Given the description of an element on the screen output the (x, y) to click on. 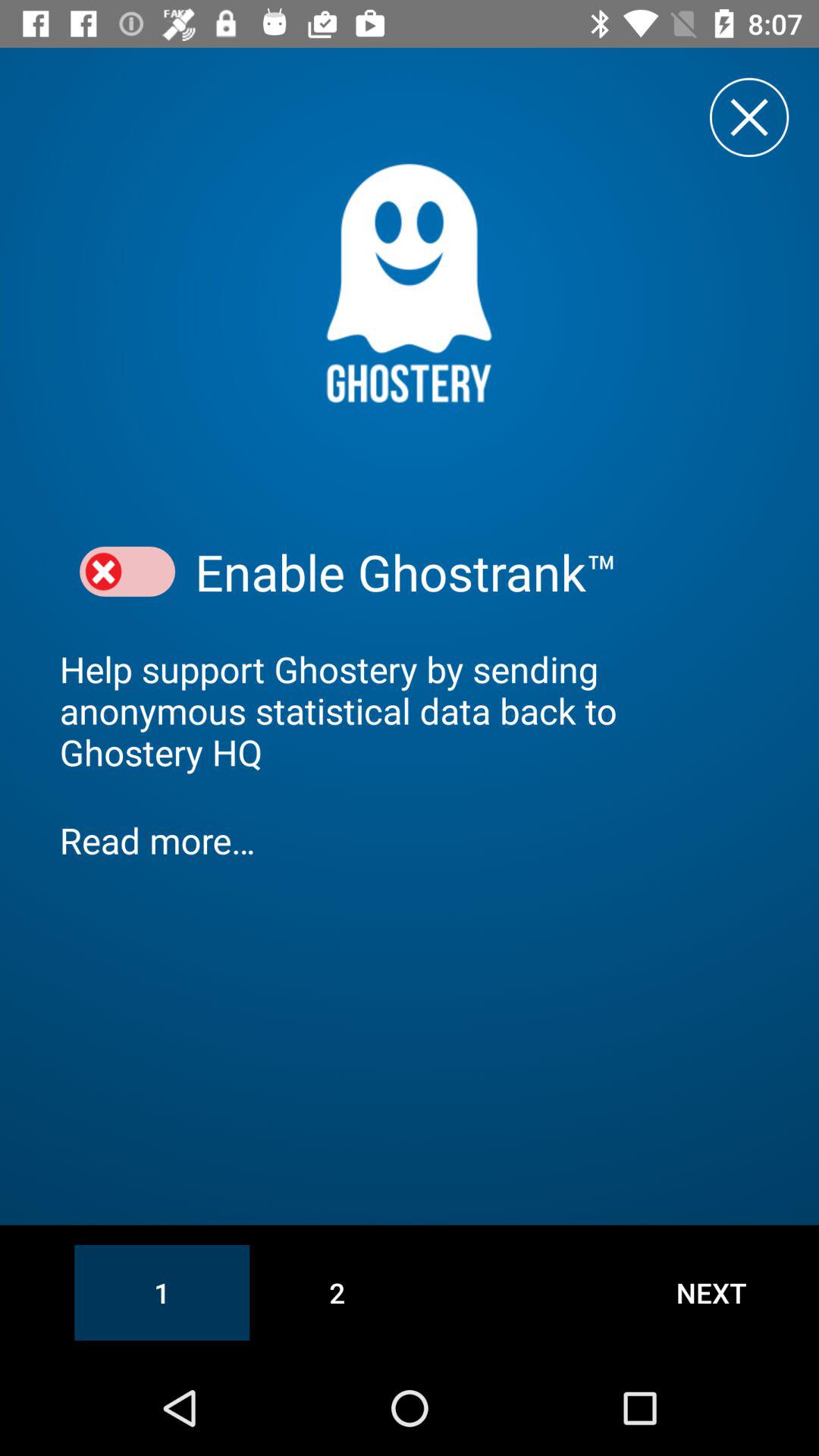
enable disable (127, 571)
